Given the description of an element on the screen output the (x, y) to click on. 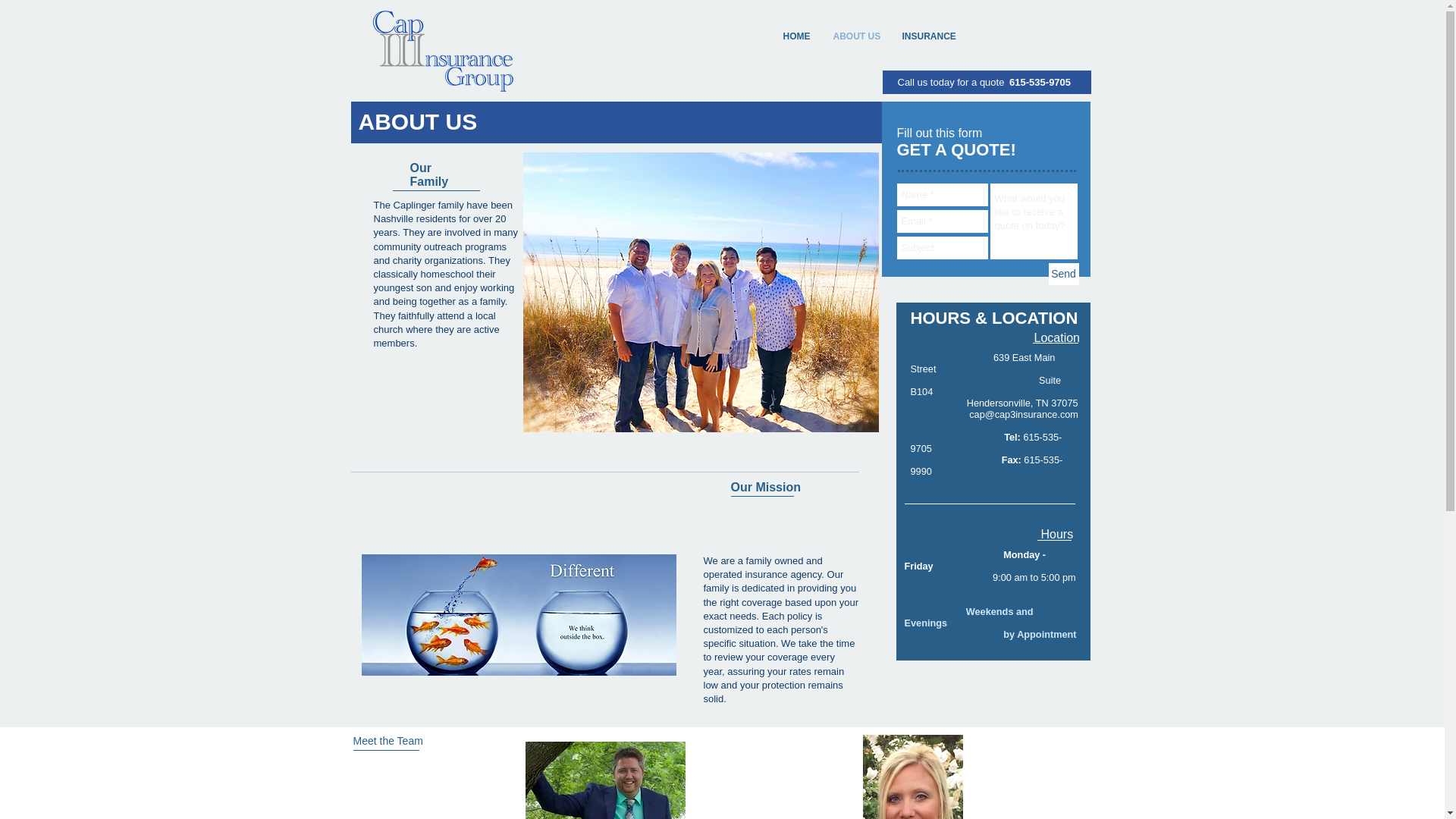
INSURANCE (927, 36)
HOME (795, 36)
ABOUT US (856, 36)
Send (1063, 273)
photo 1.JPG (518, 614)
photo.PNG (912, 776)
